Given the description of an element on the screen output the (x, y) to click on. 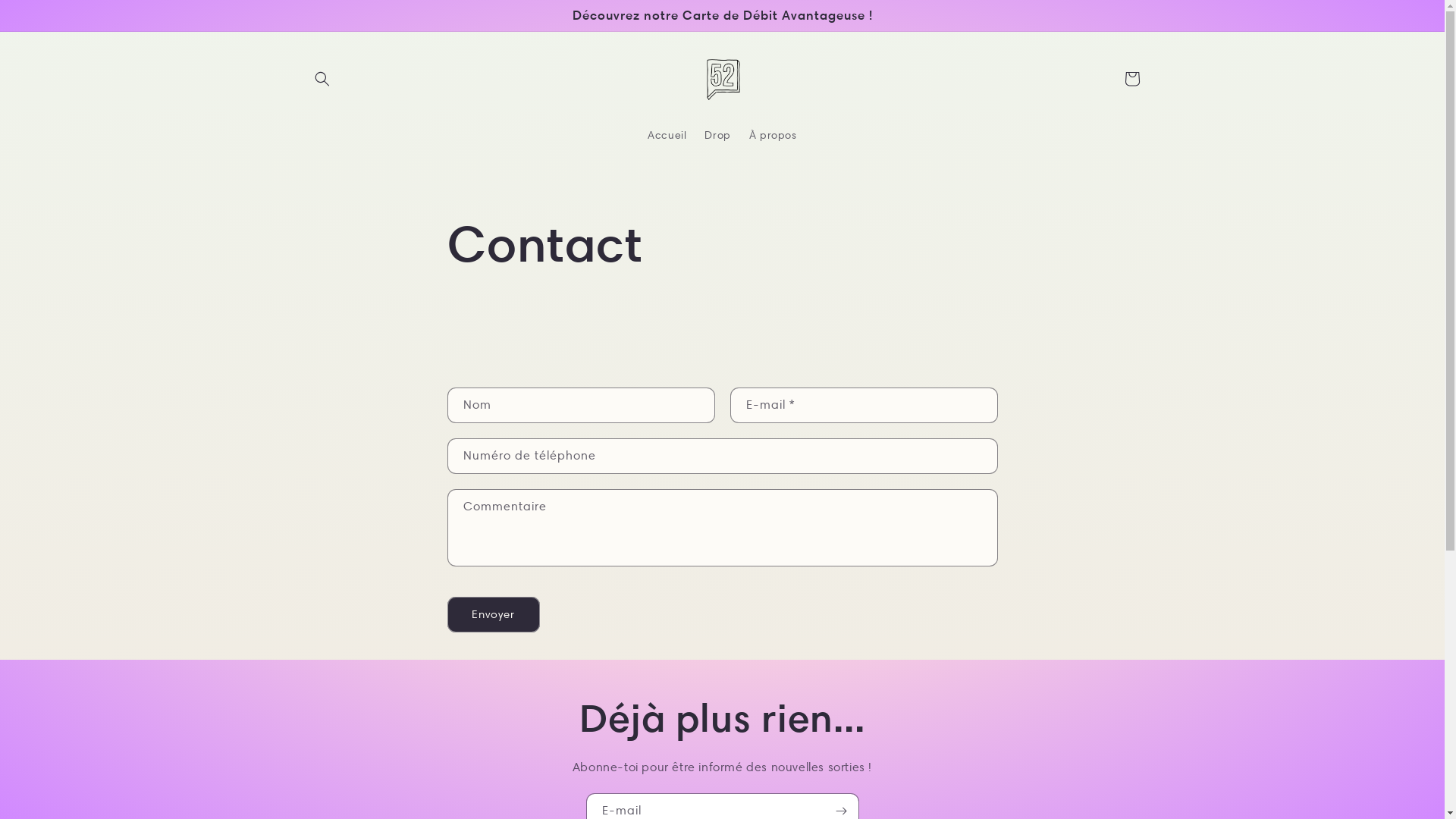
Panier Element type: text (1131, 78)
Accueil Element type: text (666, 134)
Drop Element type: text (717, 134)
Envoyer Element type: text (493, 614)
